Given the description of an element on the screen output the (x, y) to click on. 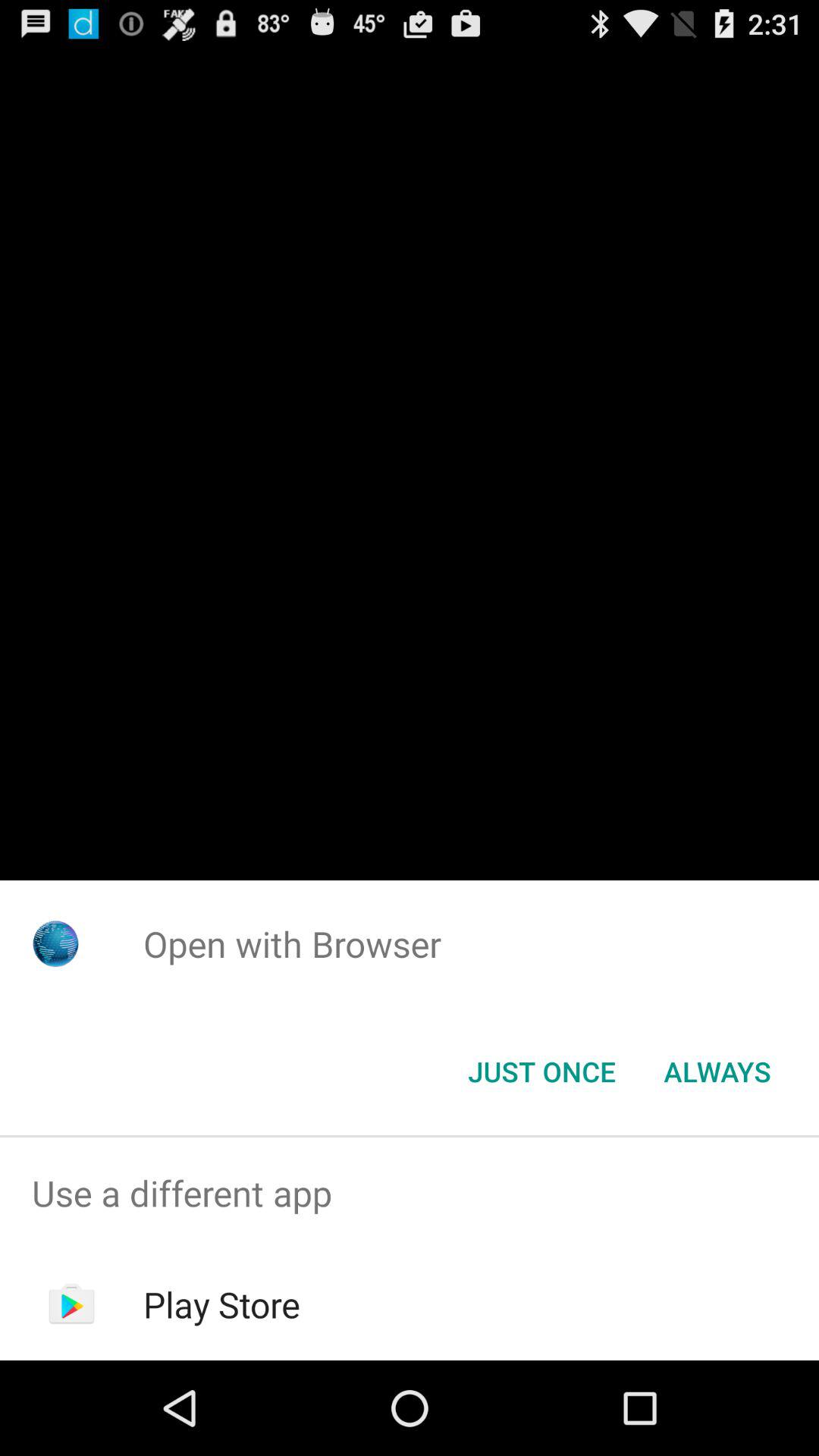
scroll until use a different (409, 1192)
